Given the description of an element on the screen output the (x, y) to click on. 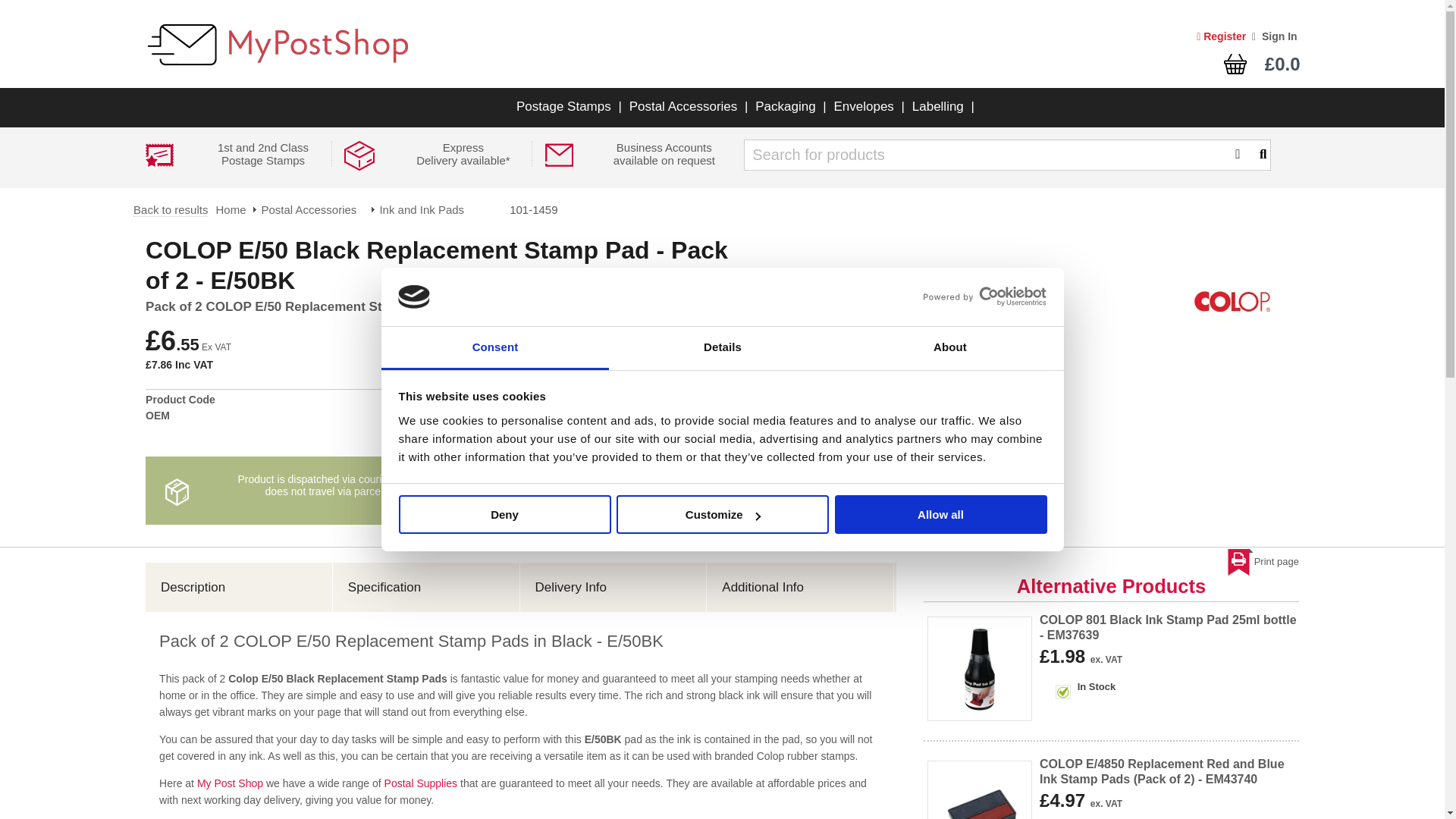
Details (721, 348)
Allow all (940, 514)
About (948, 348)
View all Labelling (938, 106)
MyPostShop.com (276, 72)
View all Postage Stamps (563, 106)
Register with the MyPostShop (1221, 36)
Consent (494, 348)
View Basket (1220, 64)
1 (714, 409)
Deny (503, 514)
View all Postal Accessories (683, 106)
View all Packaging (784, 106)
Customize (721, 514)
Sign in to My Account (1274, 36)
